Given the description of an element on the screen output the (x, y) to click on. 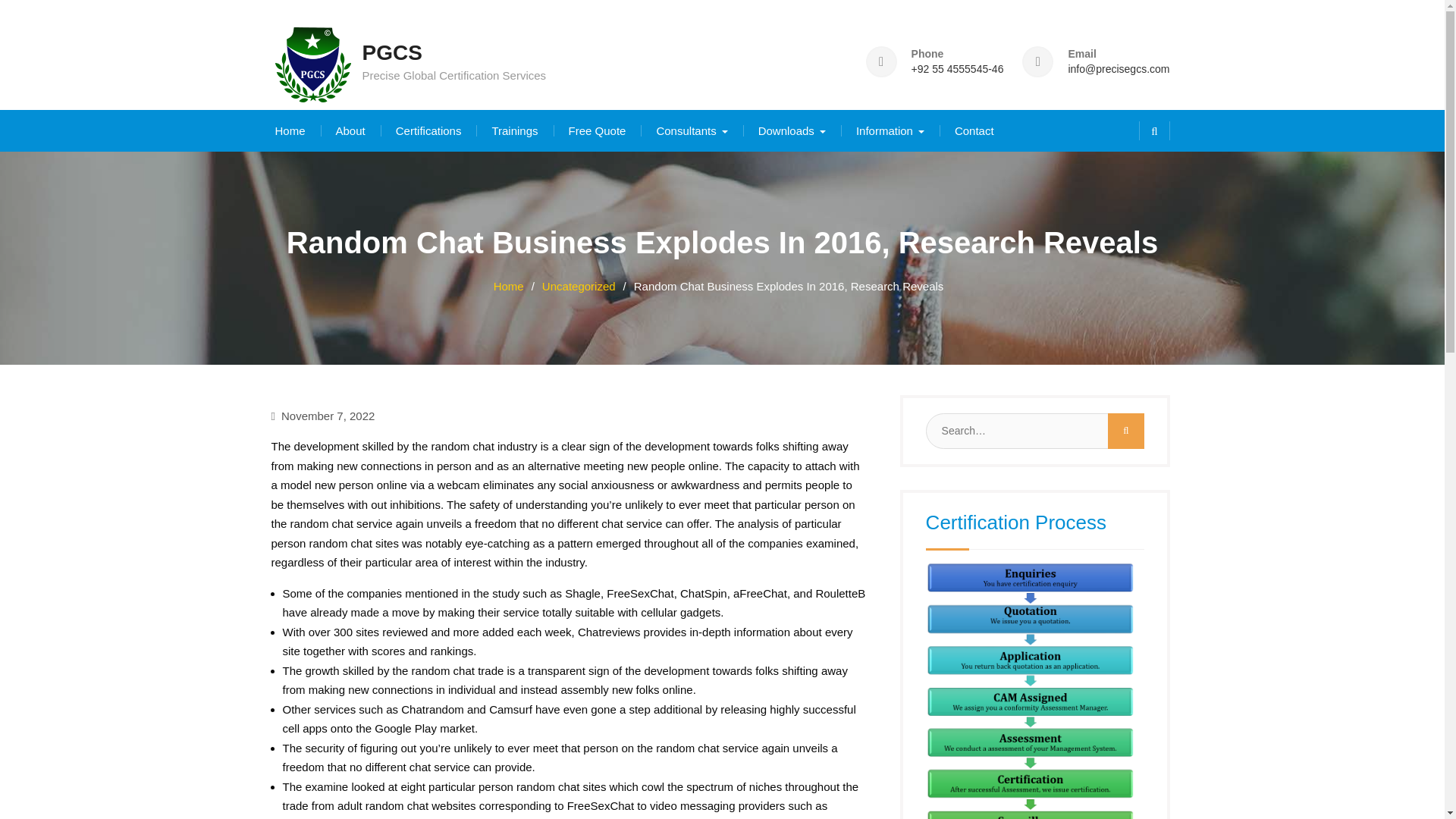
About (350, 130)
Downloads (791, 130)
Certifications (428, 130)
Trainings (514, 130)
PGCS (392, 52)
Home (289, 130)
Free Quote (597, 130)
Consultants (691, 130)
Search for: (1031, 429)
